Given the description of an element on the screen output the (x, y) to click on. 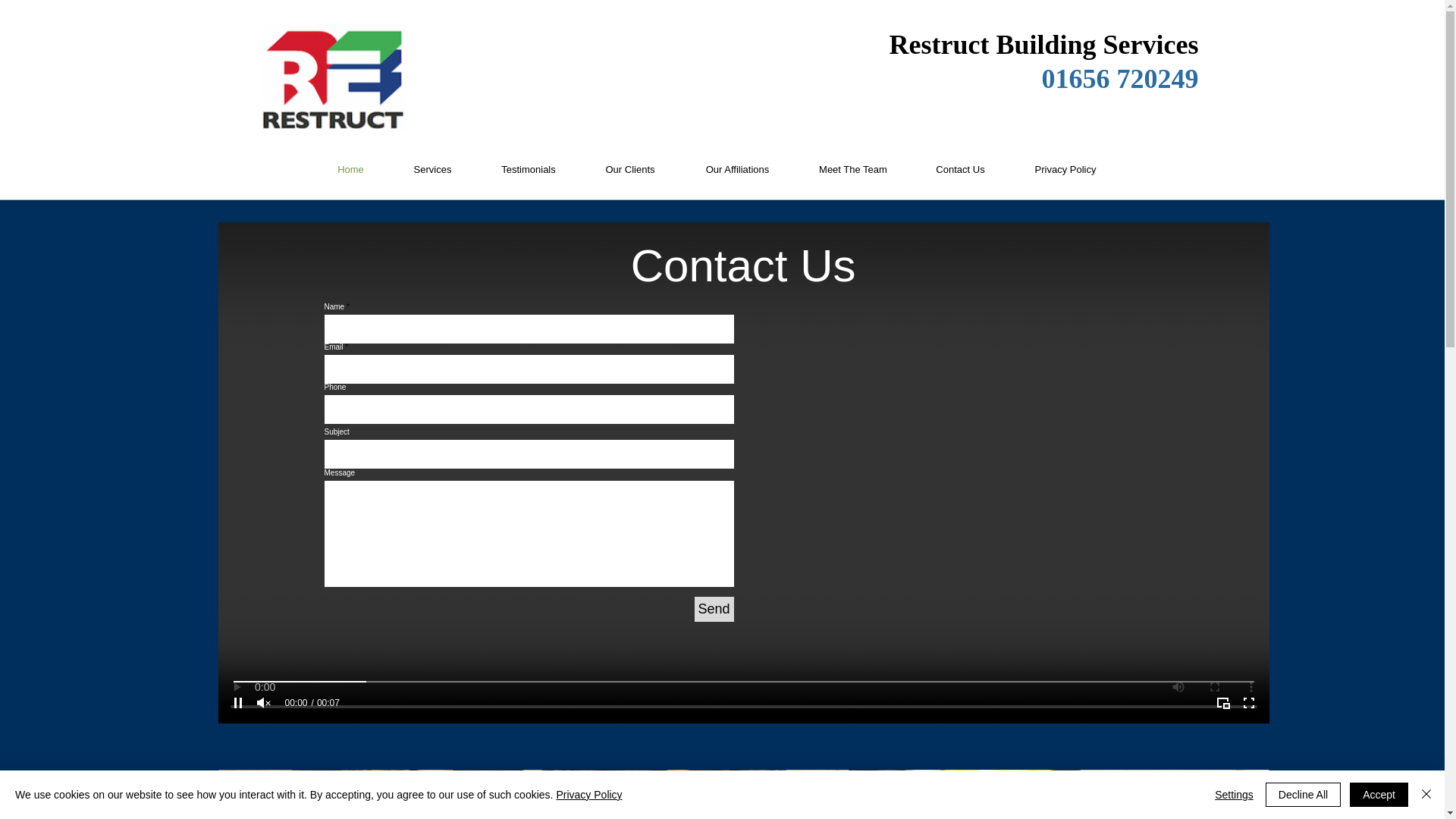
Testimonials (527, 169)
Restruct Building Services (1043, 44)
Privacy Policy (1065, 169)
Our Affiliations (736, 169)
Decline All (1302, 794)
Send (713, 609)
Meet The Team (852, 169)
Privacy Policy (588, 794)
Accept (1378, 794)
Google Maps (955, 490)
